Given the description of an element on the screen output the (x, y) to click on. 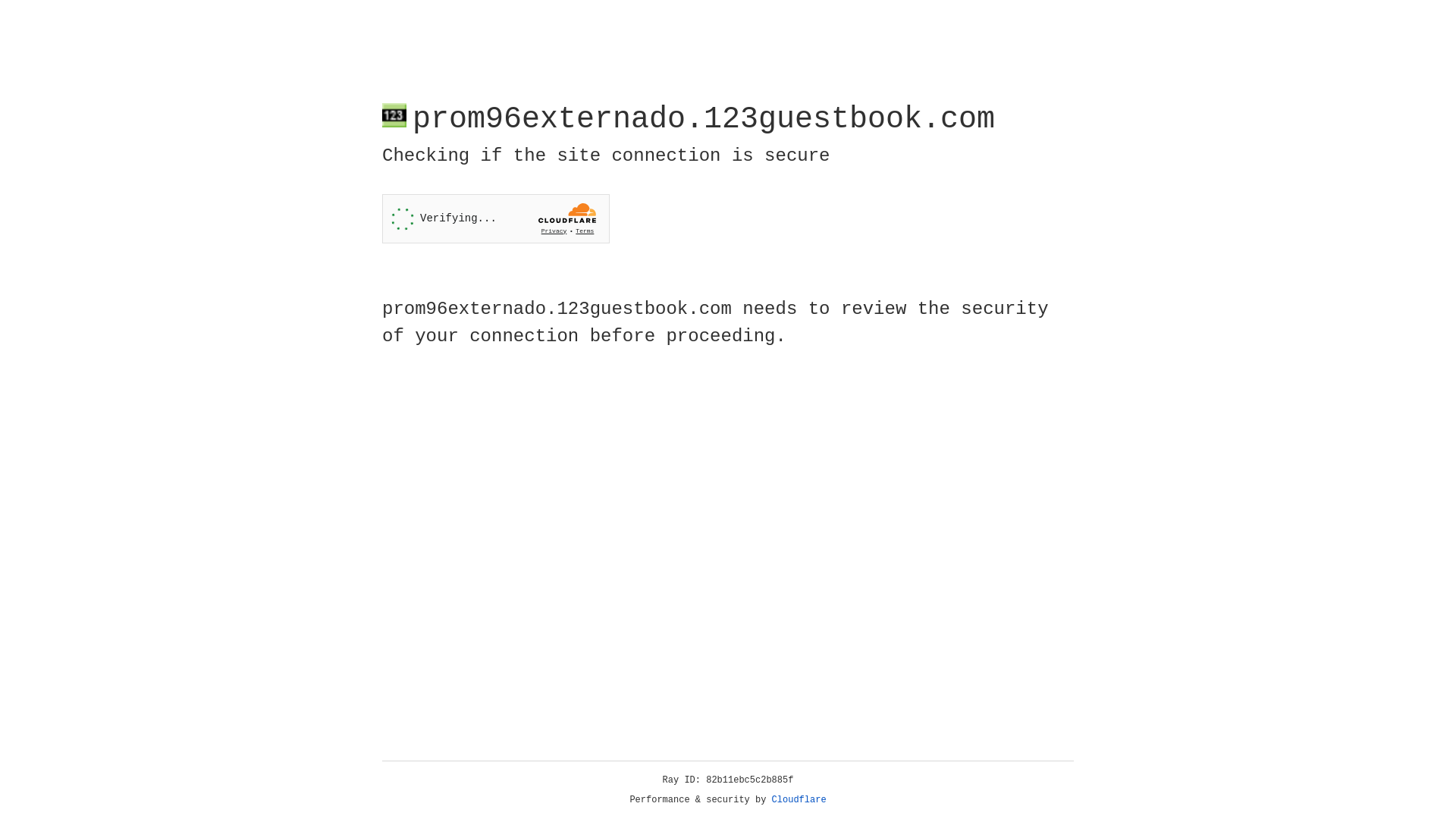
Widget containing a Cloudflare security challenge Element type: hover (495, 218)
Cloudflare Element type: text (798, 799)
